Given the description of an element on the screen output the (x, y) to click on. 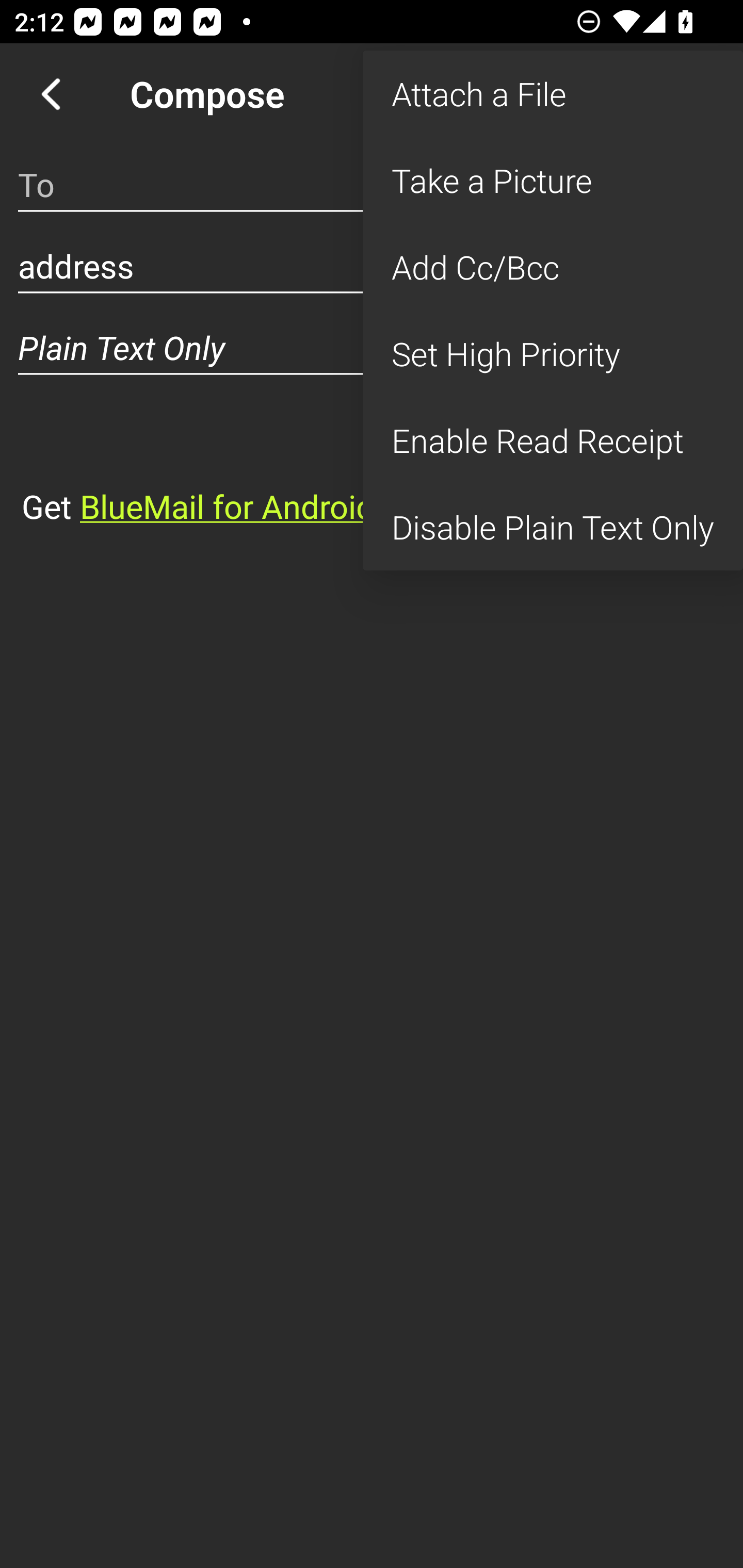
Attach a File (552, 93)
Take a Picture (552, 180)
Add Cc/Bcc (552, 267)
Set High Priority (552, 353)
Enable Read Receipt (552, 440)
Disable Plain Text Only (552, 527)
